Given the description of an element on the screen output the (x, y) to click on. 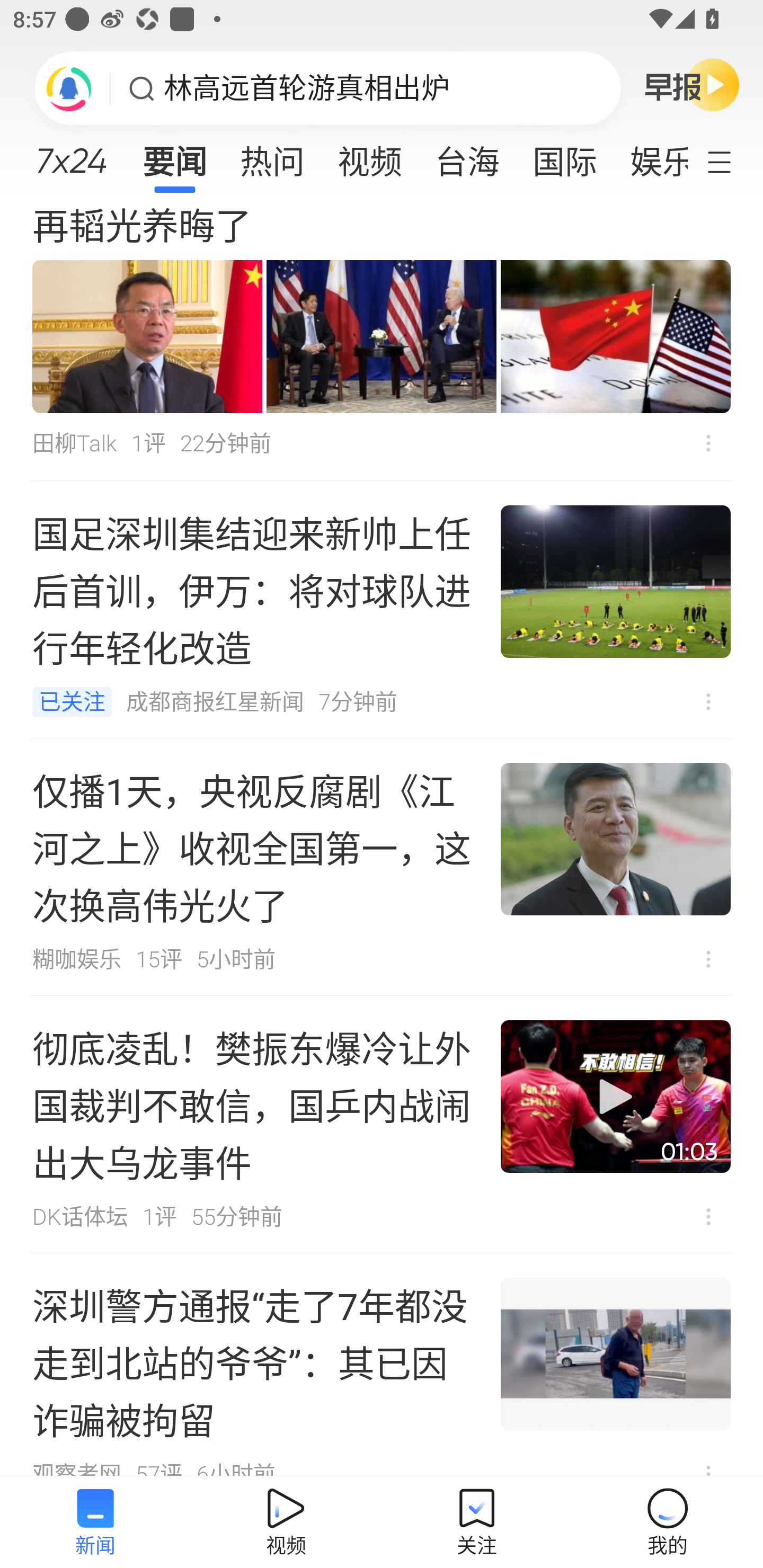
早晚报 (691, 84)
刷新 (68, 88)
林高远首轮游真相出炉 (307, 88)
7x24 (70, 154)
要闻 (174, 155)
热问 (272, 155)
视频 (369, 155)
台海 (466, 155)
国际 (564, 155)
娱乐 (650, 155)
 定制频道 (731, 160)
 不感兴趣 (707, 443)
 不感兴趣 (707, 701)
 不感兴趣 (707, 959)
 不感兴趣 (707, 1216)
